Given the description of an element on the screen output the (x, y) to click on. 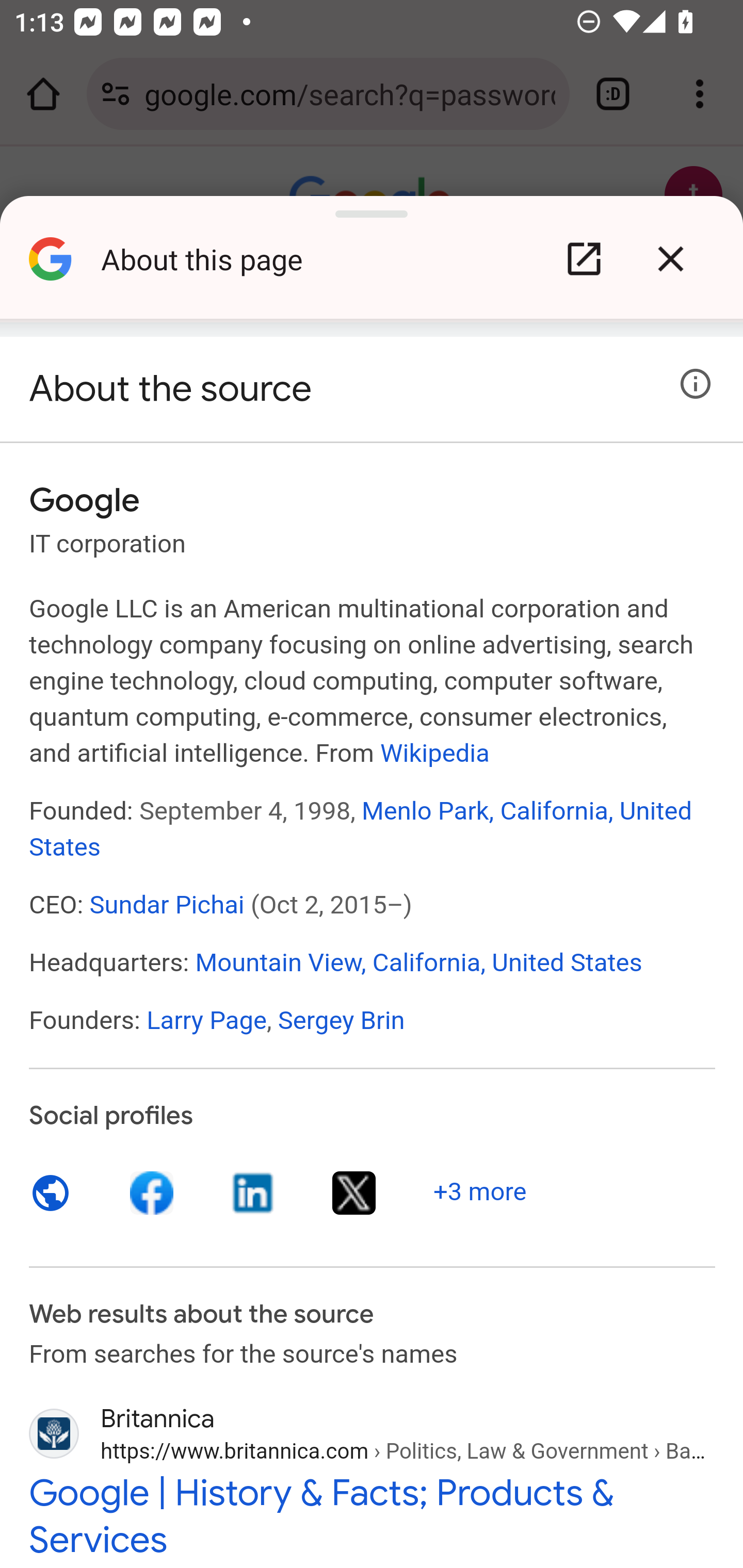
About this page Open in new tab Close (371, 266)
Open in new tab (583, 259)
Close (670, 259)
Support about the source (695, 384)
Wikipedia (434, 752)
Menlo Park, California, United States (360, 828)
Sundar Pichai (166, 904)
Mountain View, California, United States (418, 961)
Larry Page (206, 1019)
Sergey Brin (341, 1019)
Official site, Google (51, 1193)
facebook.com, Google (152, 1193)
linkedin.com, Google (252, 1193)
twitter.com, Google (354, 1193)
+3 more (480, 1191)
